Given the description of an element on the screen output the (x, y) to click on. 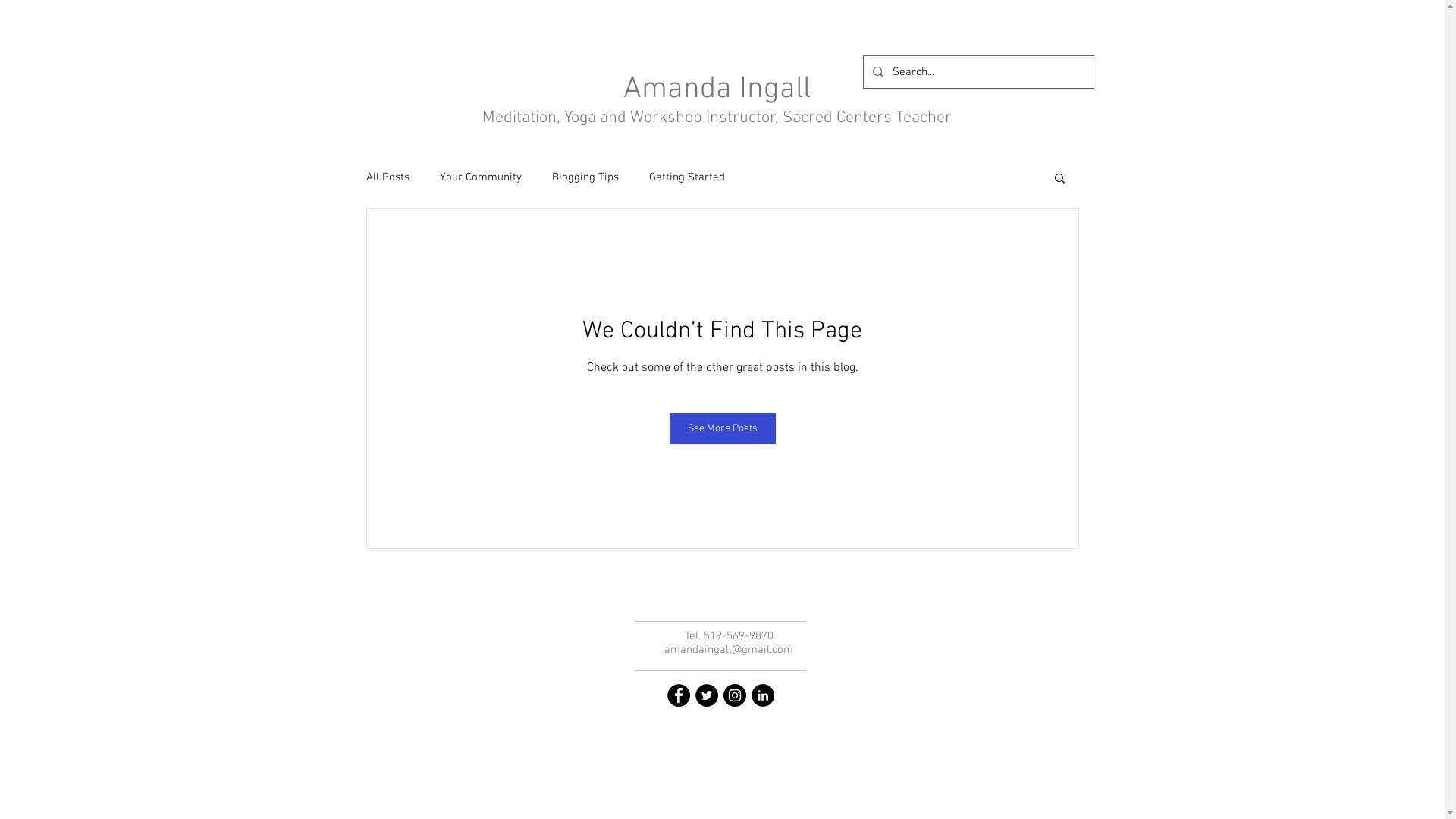
Amanda Ingall Element type: text (716, 89)
amandaingall@gmail.com Element type: text (728, 649)
Your Community Element type: text (480, 177)
Blogging Tips Element type: text (585, 177)
See More Posts Element type: text (721, 428)
All Posts Element type: text (386, 177)
